Given the description of an element on the screen output the (x, y) to click on. 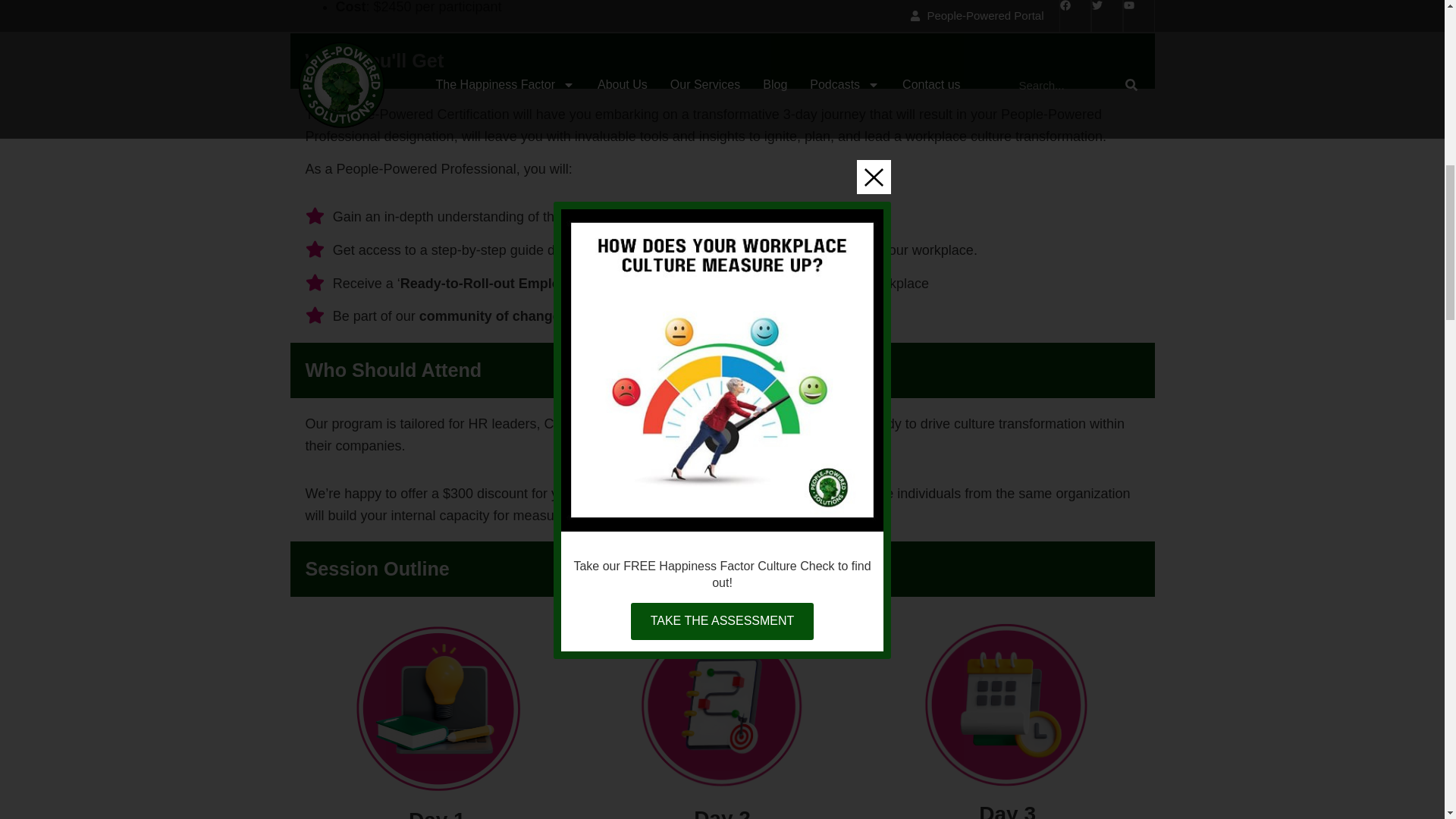
People-Powered Professional Certification 3 (437, 706)
People-Powered Professional Certification 5 (1008, 703)
People-Powered Professional Certification 4 (722, 706)
